Given the description of an element on the screen output the (x, y) to click on. 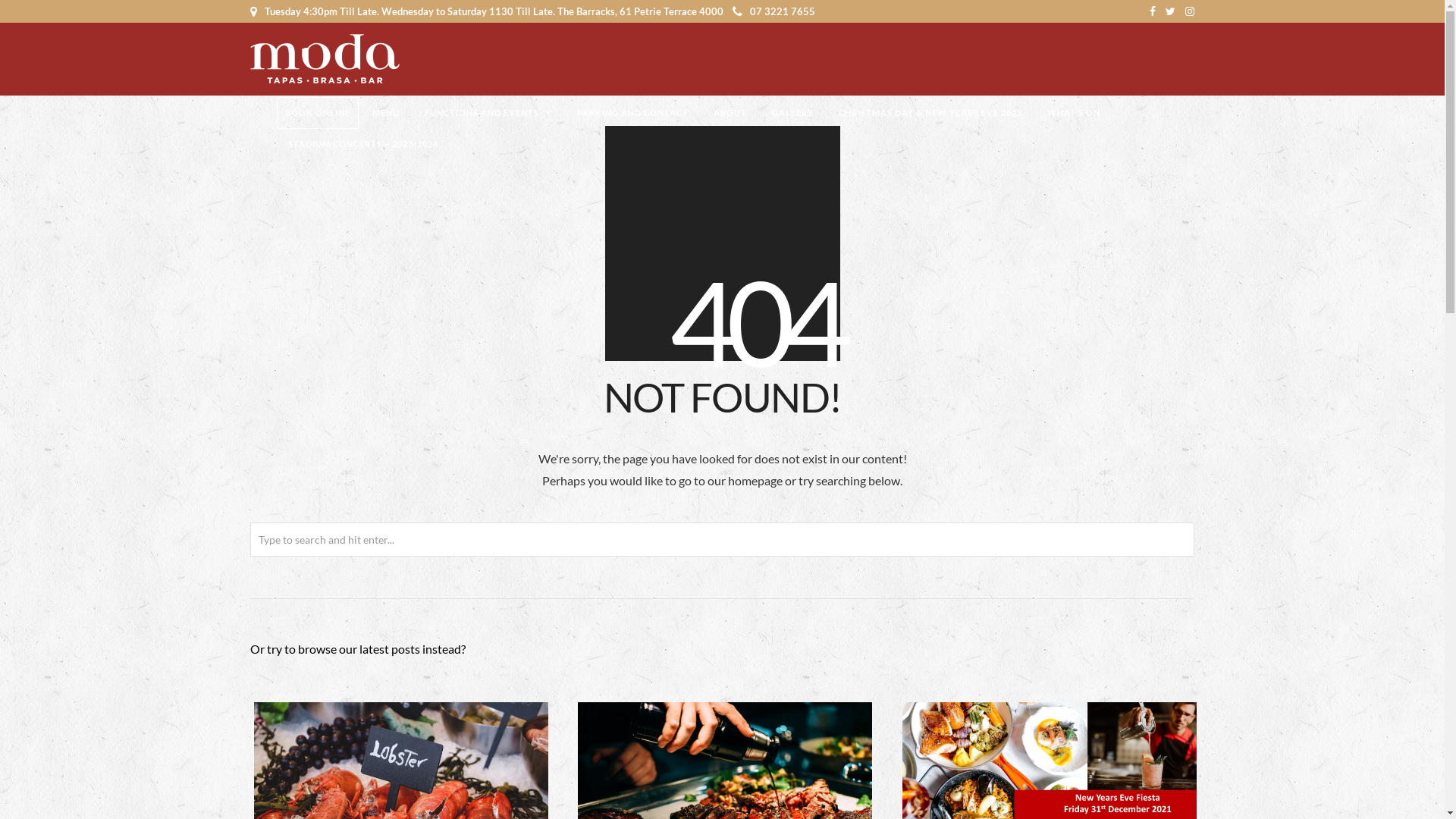
PARKING AND CONTACT Element type: text (632, 112)
FUNCTIONS AND EVENTS Element type: text (488, 112)
GALLERY Element type: text (792, 112)
BOOK ONLINE Element type: text (317, 112)
07 3221 7655 Element type: text (773, 11)
MENU Element type: text (385, 112)
Instagram Element type: hover (1189, 11)
ABOUT Element type: text (730, 112)
CHRISTMAS DAY & NEW YEARS EVE 2023 Element type: text (930, 112)
